Given the description of an element on the screen output the (x, y) to click on. 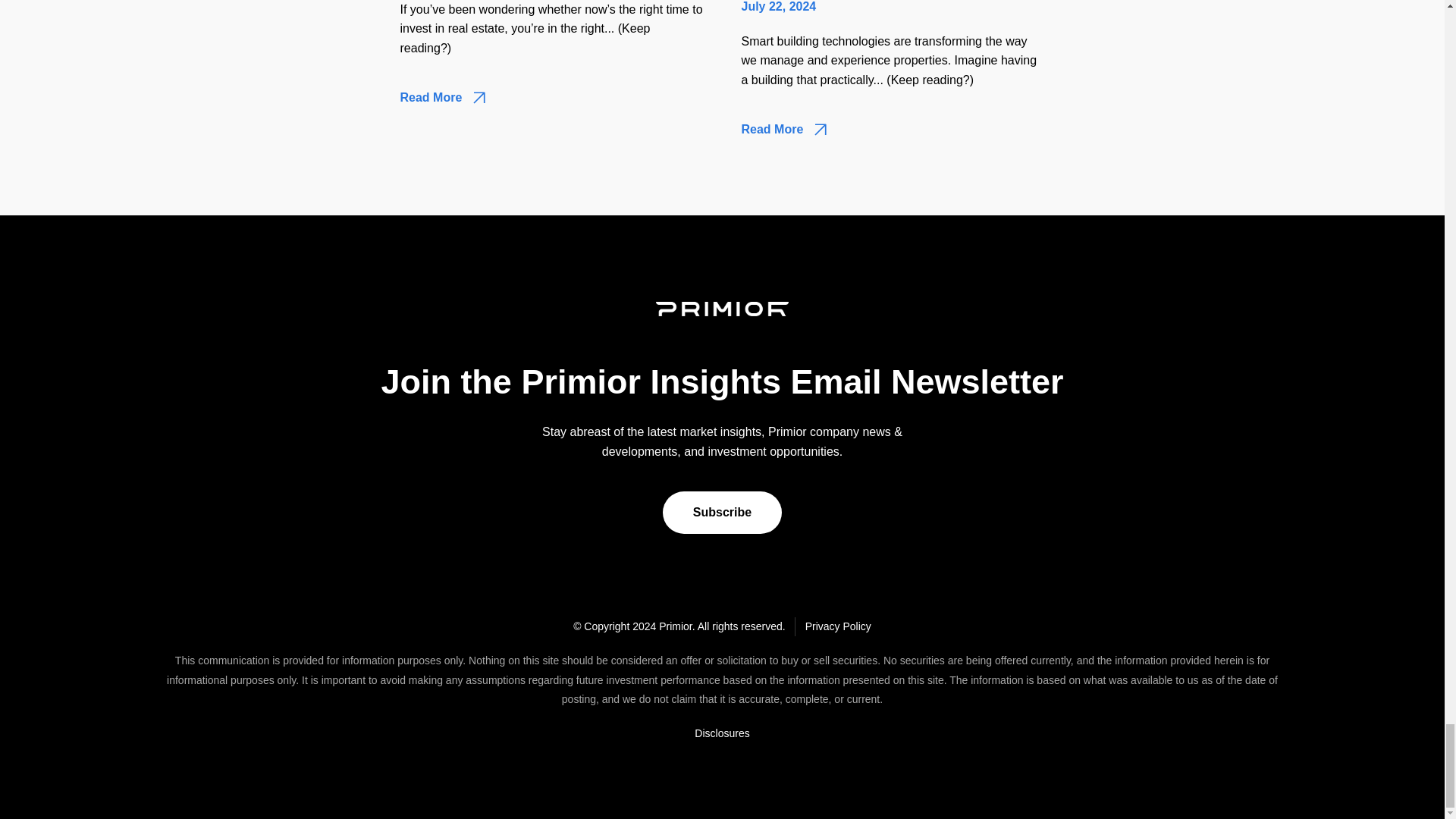
Privacy Policy (837, 626)
Read More (784, 130)
Read More (443, 98)
Disclosures (721, 732)
Subscribe (721, 512)
